Given the description of an element on the screen output the (x, y) to click on. 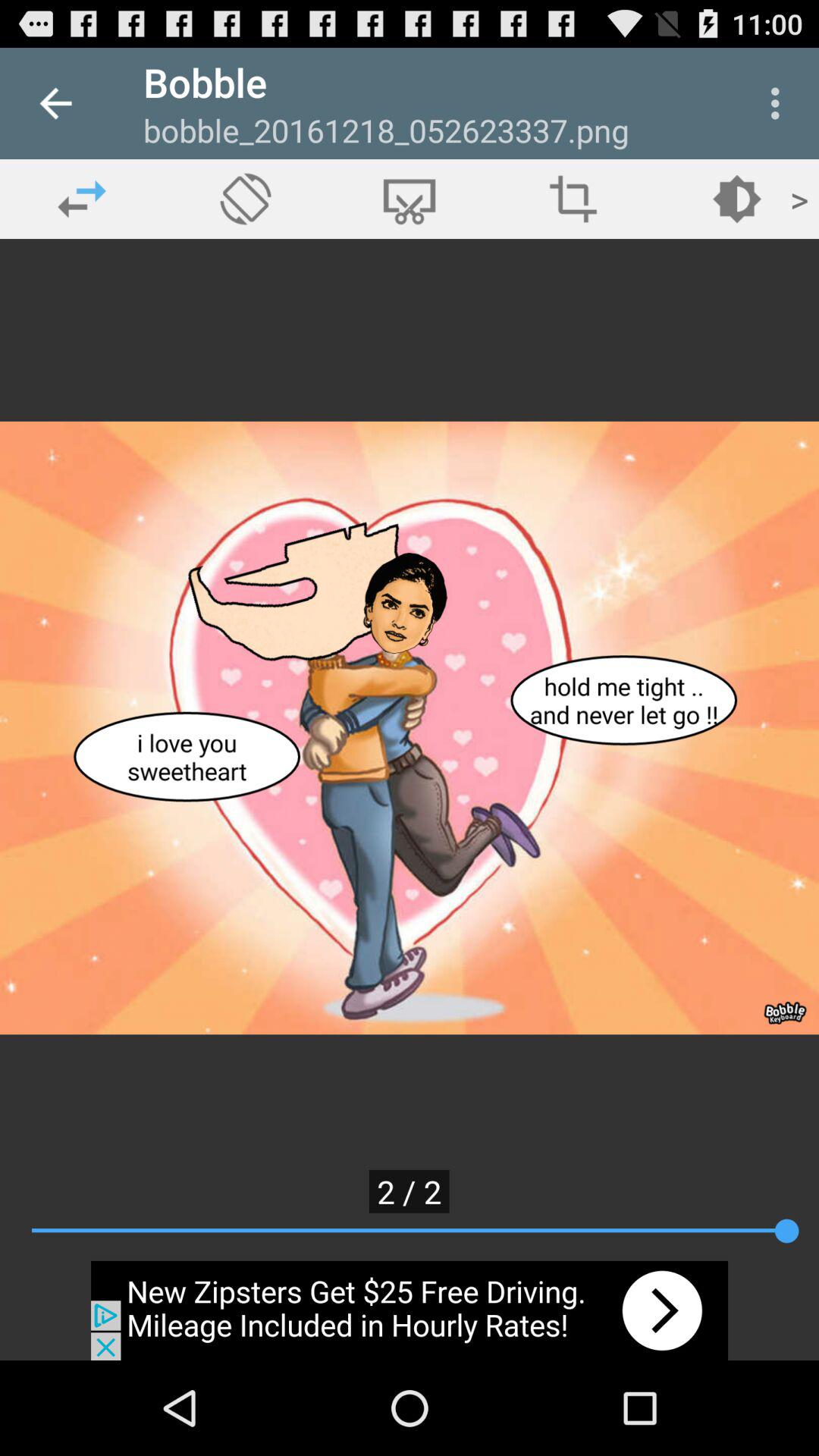
rotate orientation (245, 198)
